Given the description of an element on the screen output the (x, y) to click on. 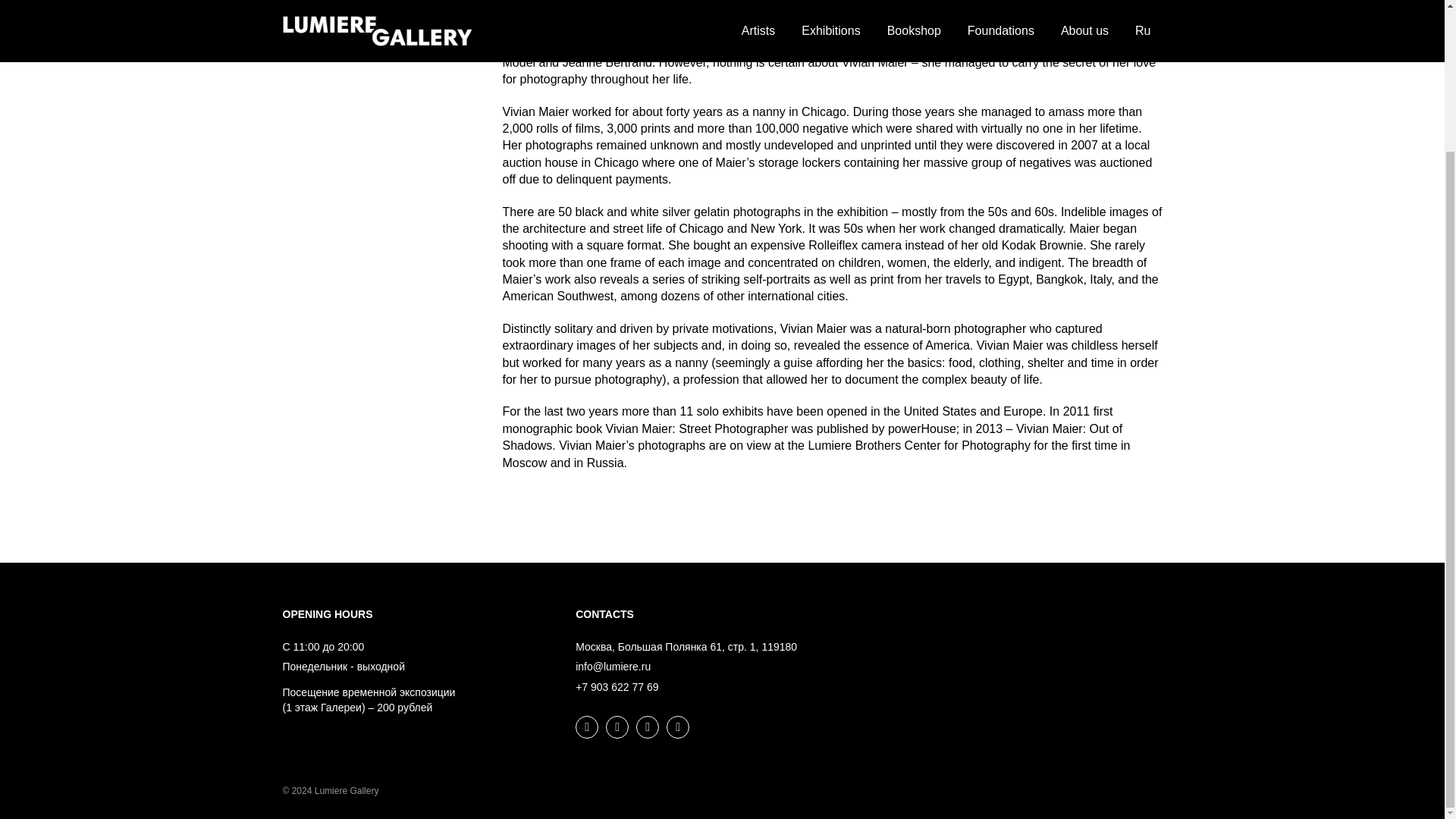
Lumiere Gallery YouTube (616, 726)
Lumiere Gallery Vk (586, 726)
Lumiere Gallery WhatsApp (647, 726)
Lumiere Gallery Telegram (677, 726)
